Given the description of an element on the screen output the (x, y) to click on. 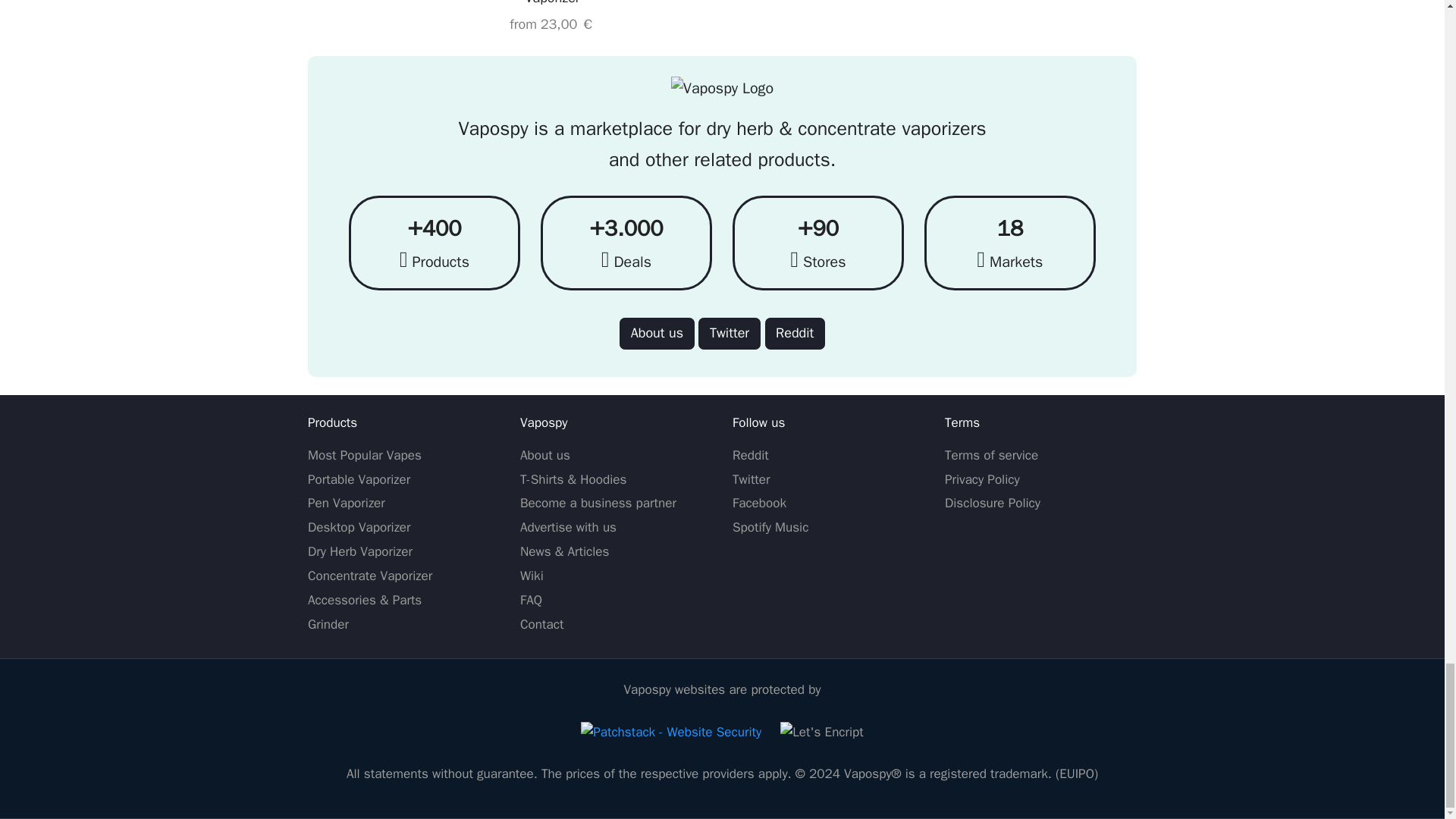
CCell Palm Cartridge Vaporizer (552, 18)
